Given the description of an element on the screen output the (x, y) to click on. 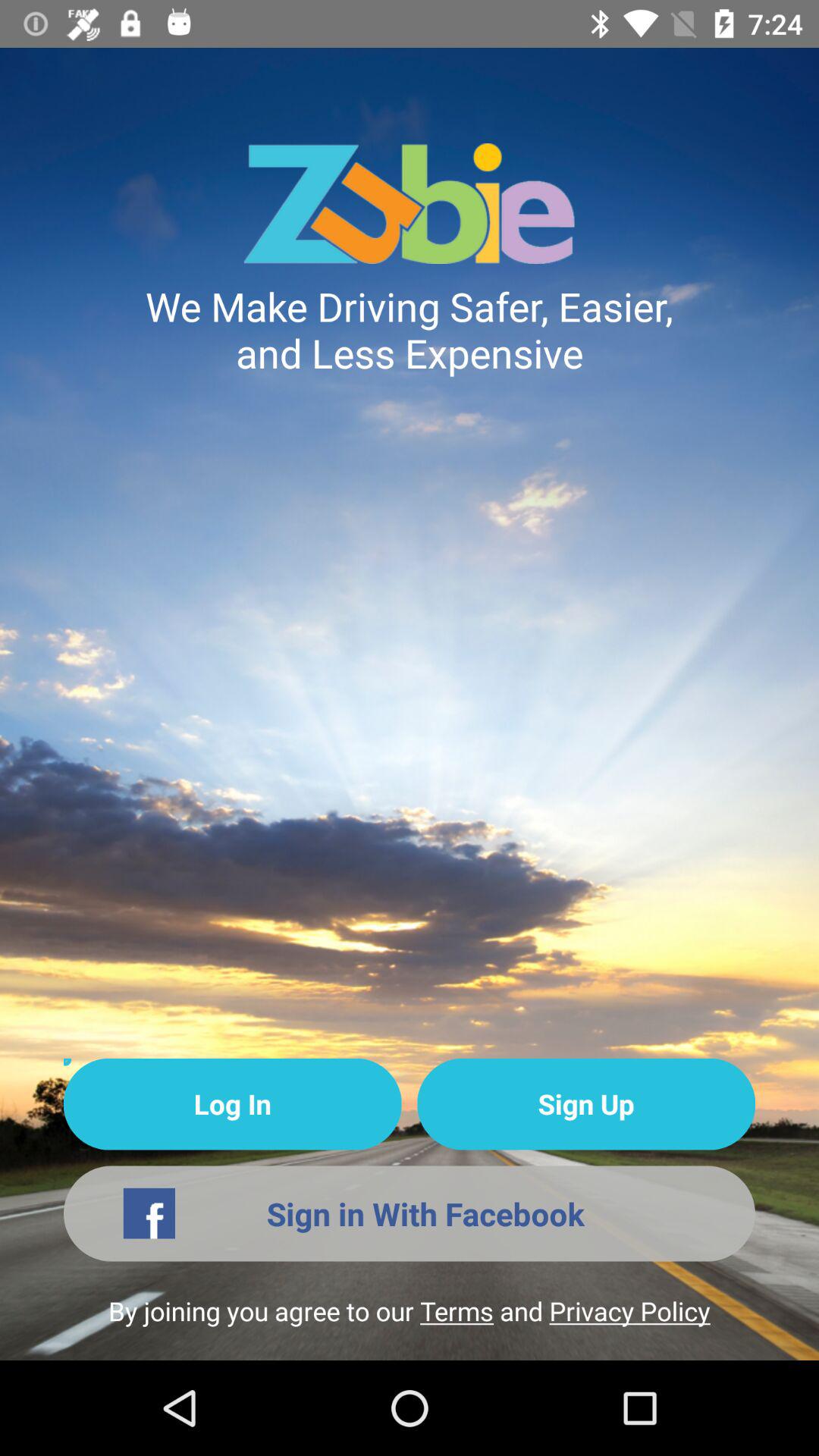
jump until the sign up item (586, 1104)
